Given the description of an element on the screen output the (x, y) to click on. 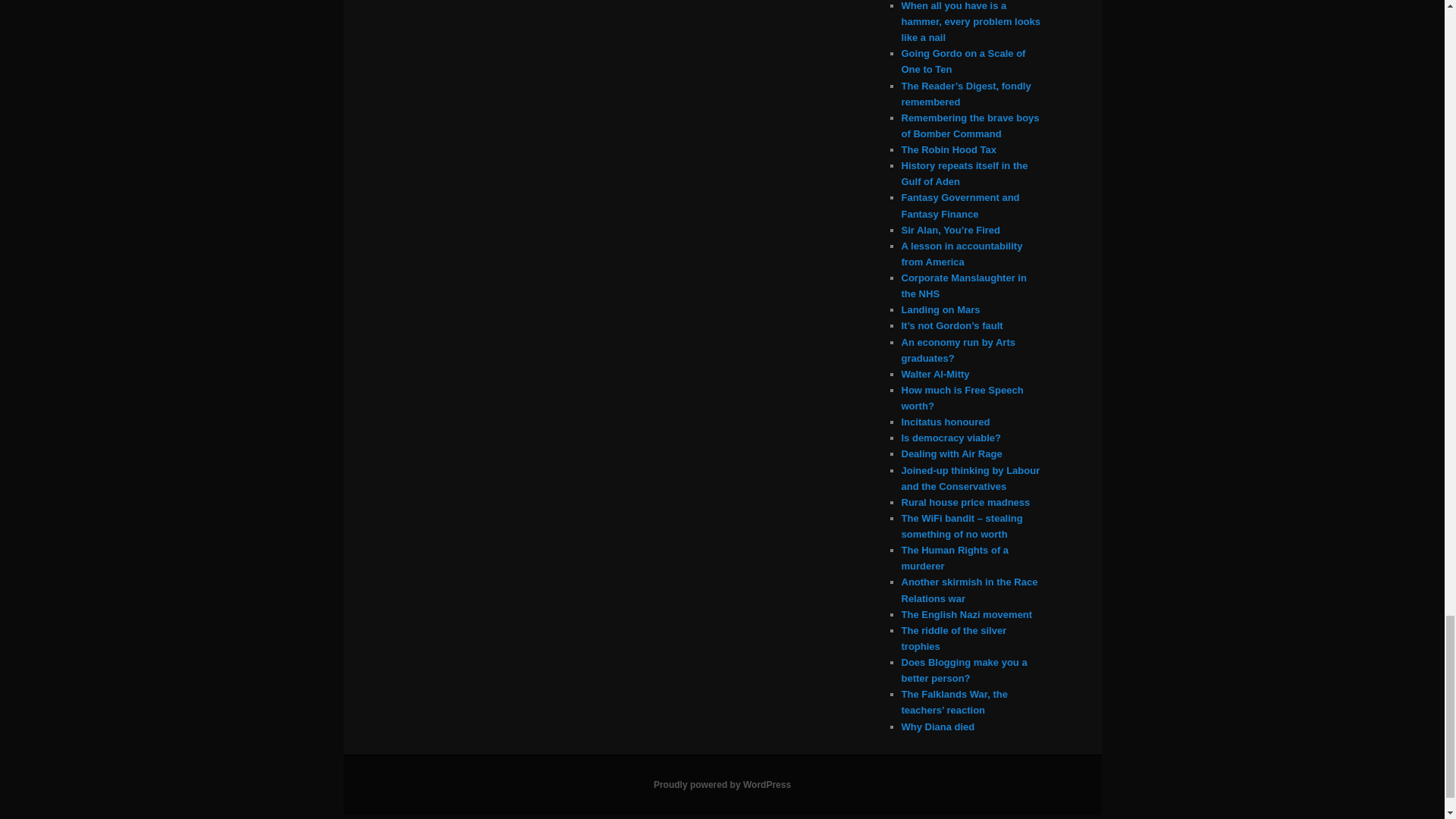
Semantic Personal Publishing Platform (721, 784)
